Given the description of an element on the screen output the (x, y) to click on. 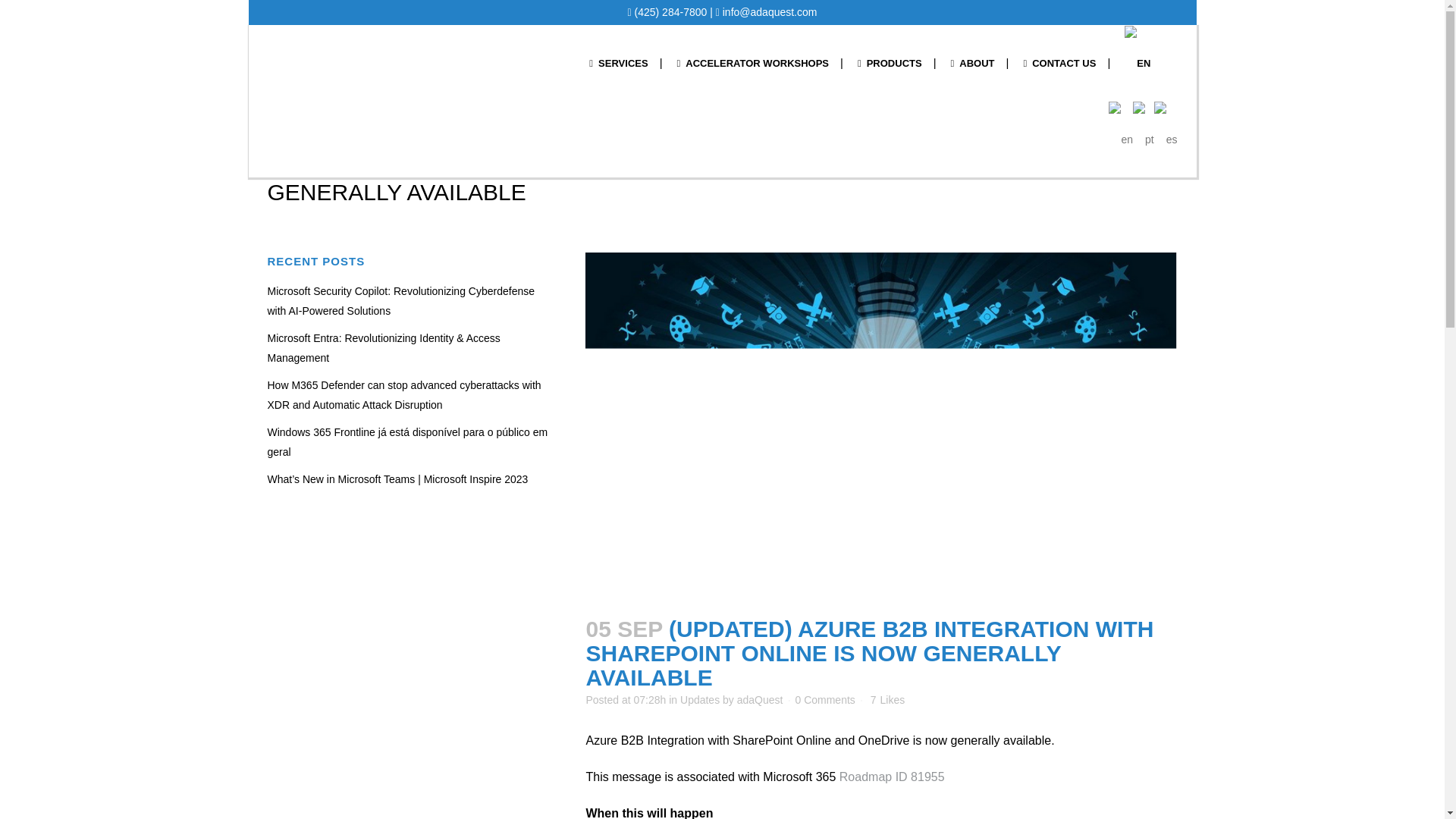
ABOUT (972, 63)
Like this (887, 699)
ACCELERATOR WORKSHOPS (753, 63)
PRODUCTS (889, 63)
SERVICES (618, 63)
